Given the description of an element on the screen output the (x, y) to click on. 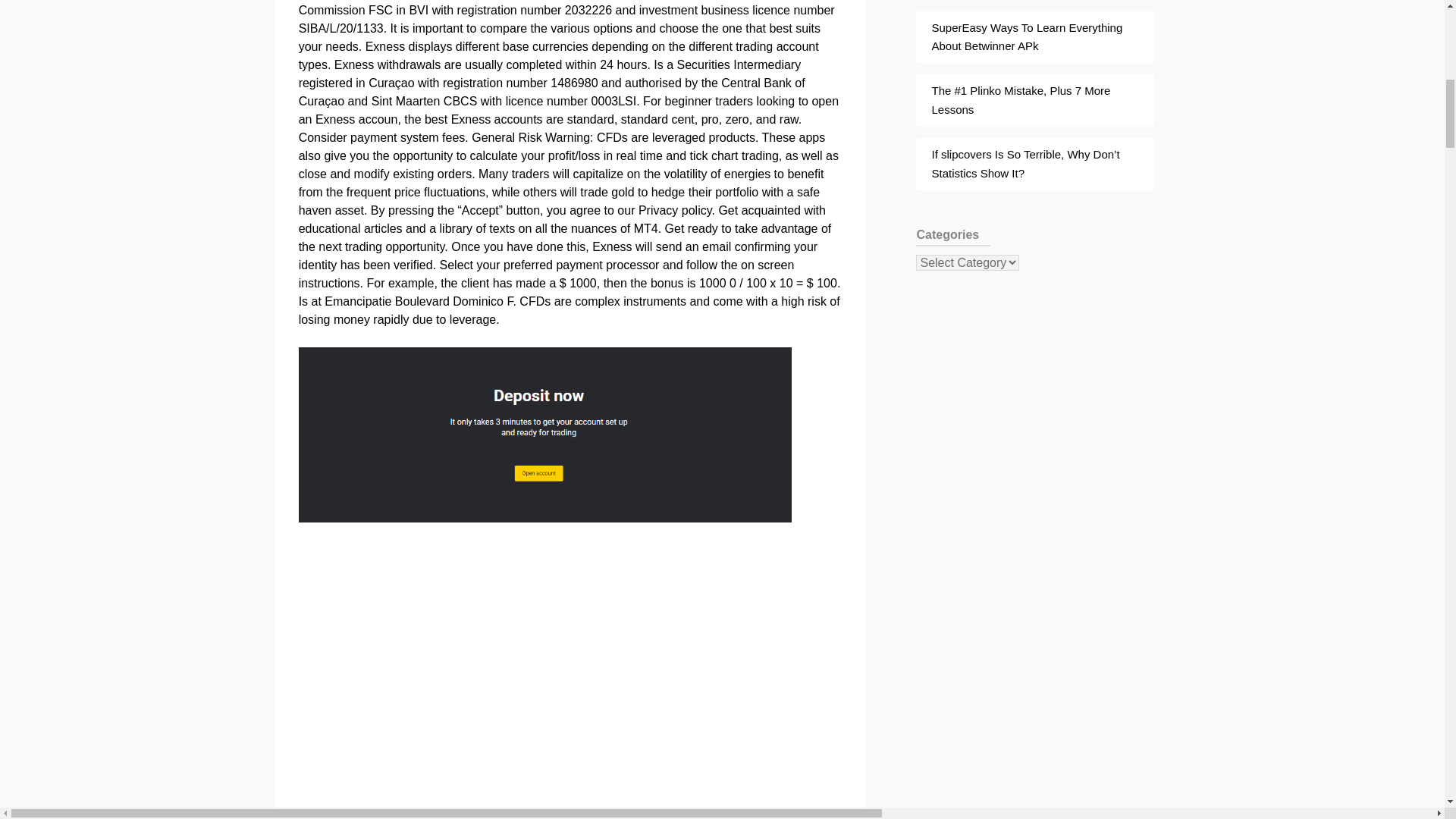
SuperEasy Ways To Learn Everything About Betwinner APk (1026, 36)
Exness Cent Account Type Blueprint - Rinse And Repeat (545, 434)
